Given the description of an element on the screen output the (x, y) to click on. 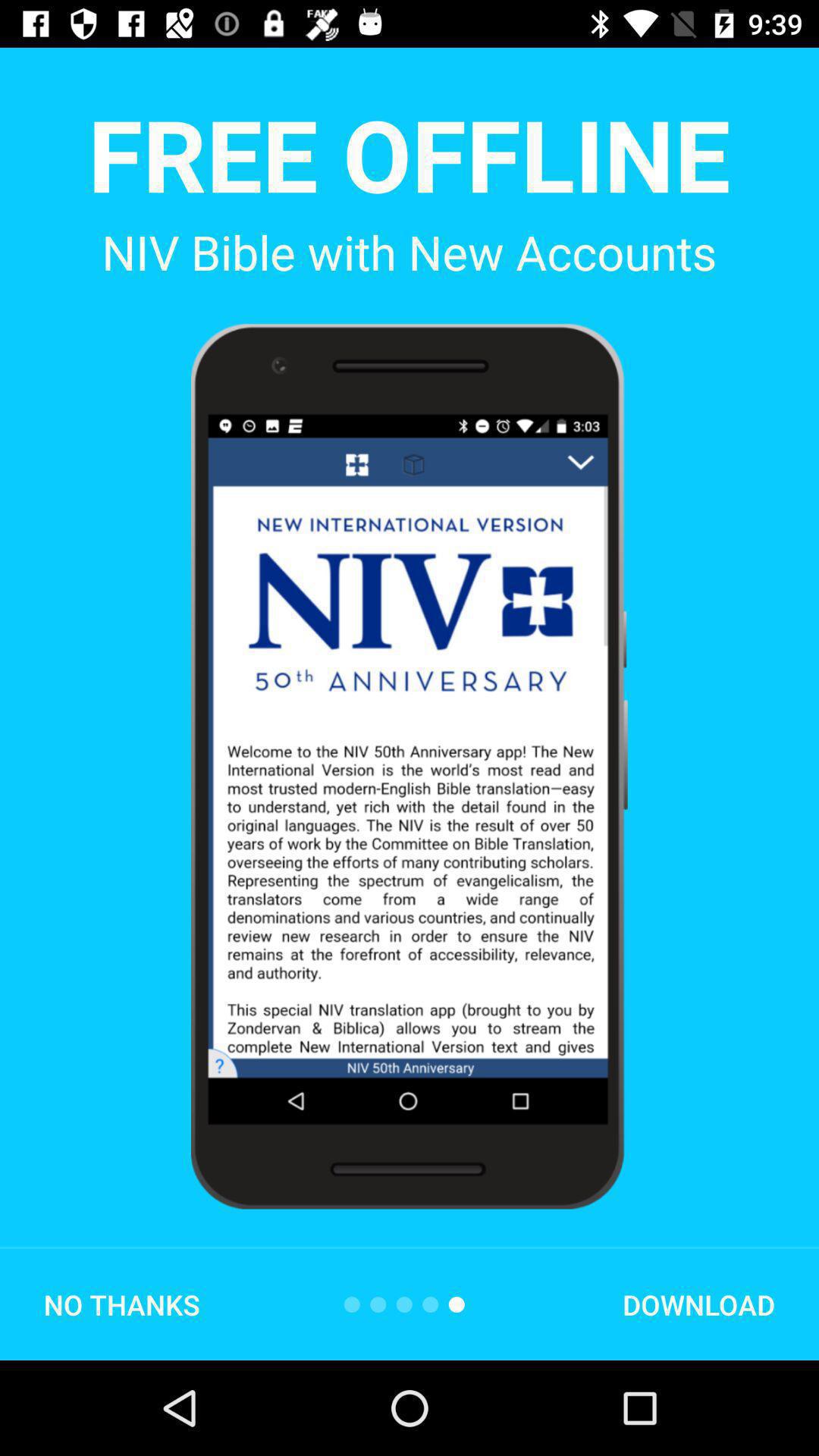
jump until the free offline icon (409, 153)
